Given the description of an element on the screen output the (x, y) to click on. 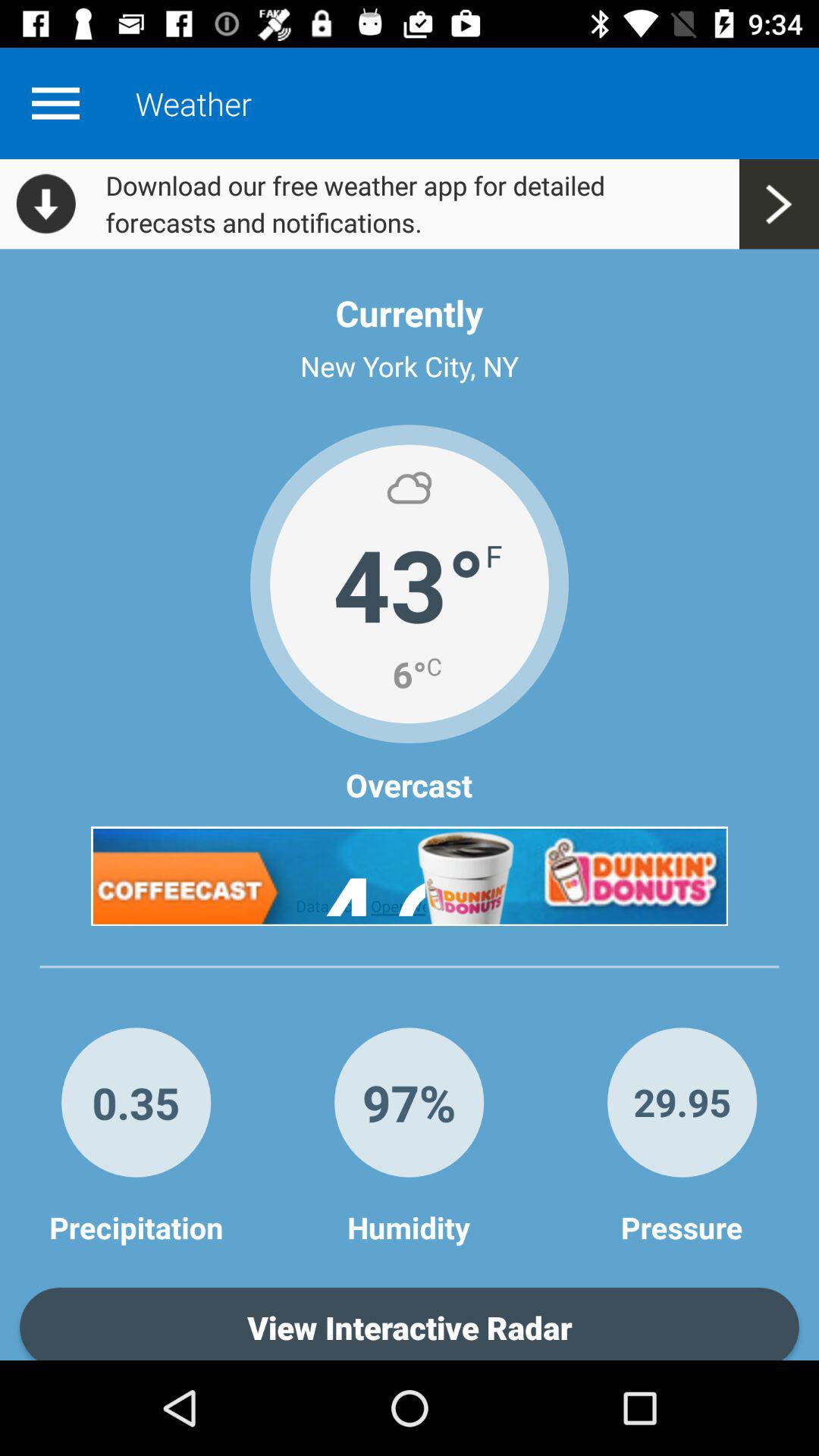
menu options (55, 103)
